Given the description of an element on the screen output the (x, y) to click on. 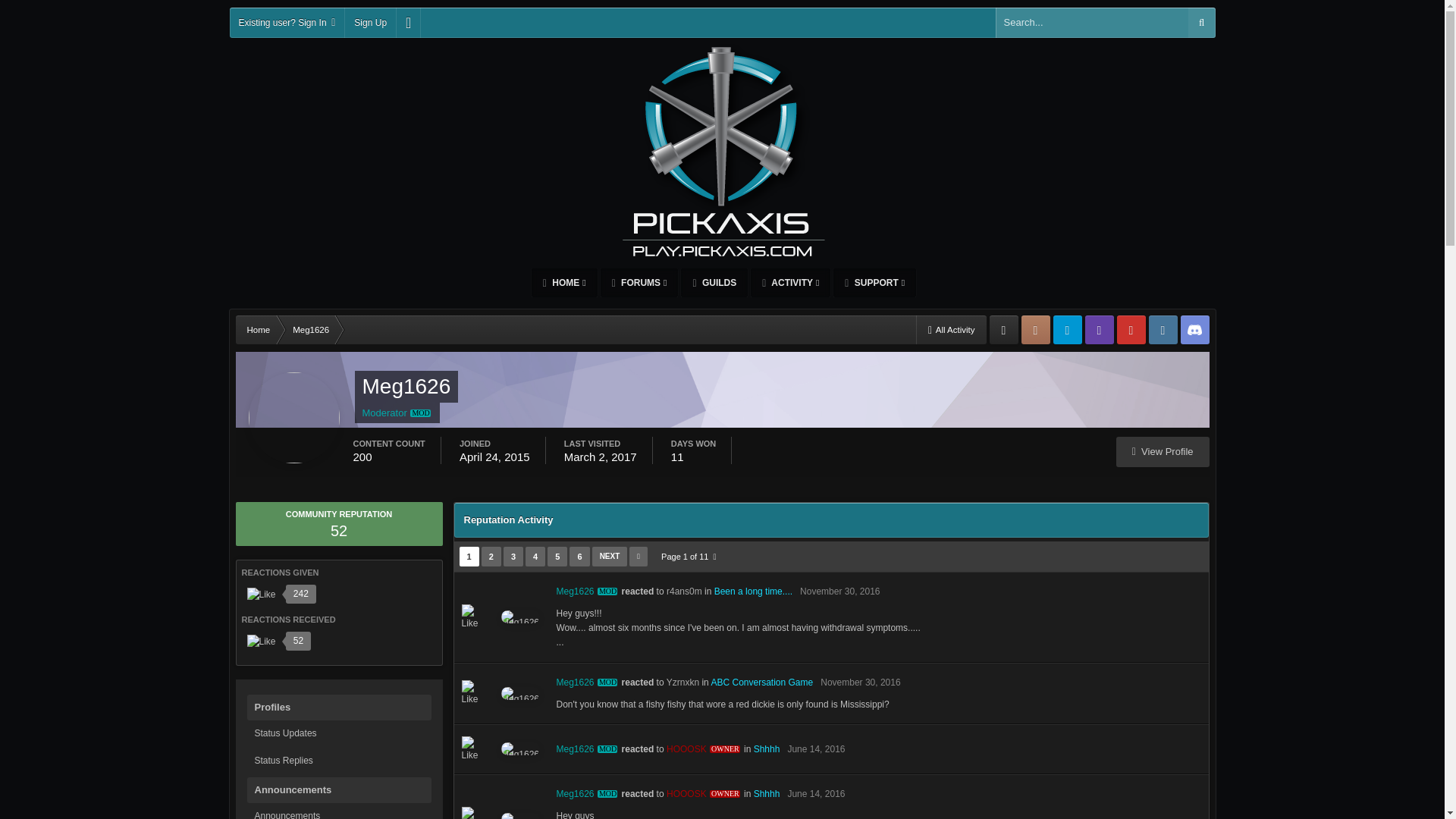
FORUMS (638, 282)
Sign Up (370, 22)
HOME (563, 282)
Existing user? Sign In   (285, 22)
Go to r4ans0m's profile (683, 591)
SUPPORT (873, 282)
Home (257, 329)
GUILDS (714, 282)
Go to Meg1626's profile (588, 591)
ACTIVITY (790, 282)
Next page (609, 556)
Meg1626's Profile (1162, 451)
Last page (637, 556)
Go to Meg1626's profile (519, 616)
